Given the description of an element on the screen output the (x, y) to click on. 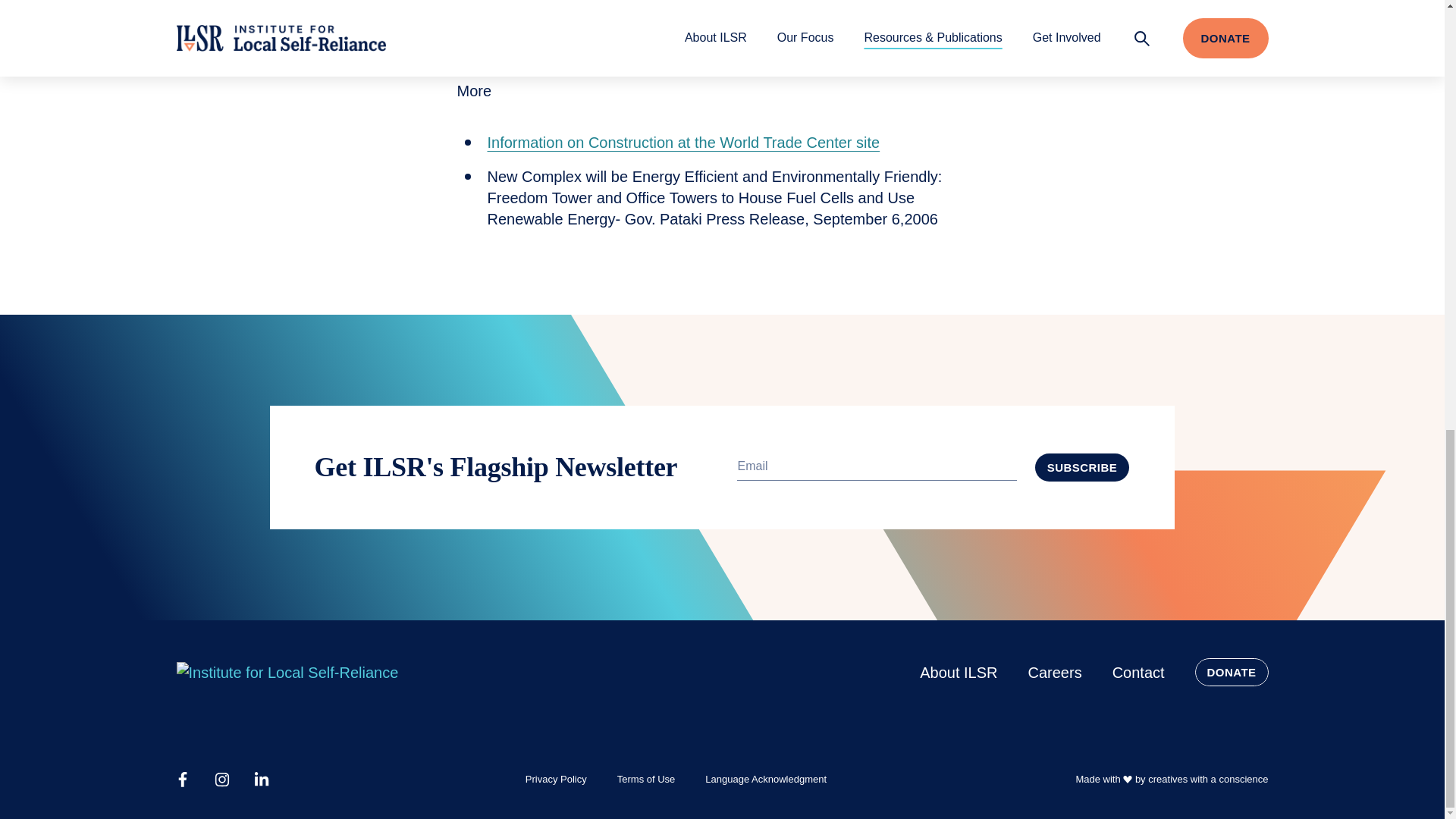
Information on Construction at the World Trade Center site (682, 142)
